Given the description of an element on the screen output the (x, y) to click on. 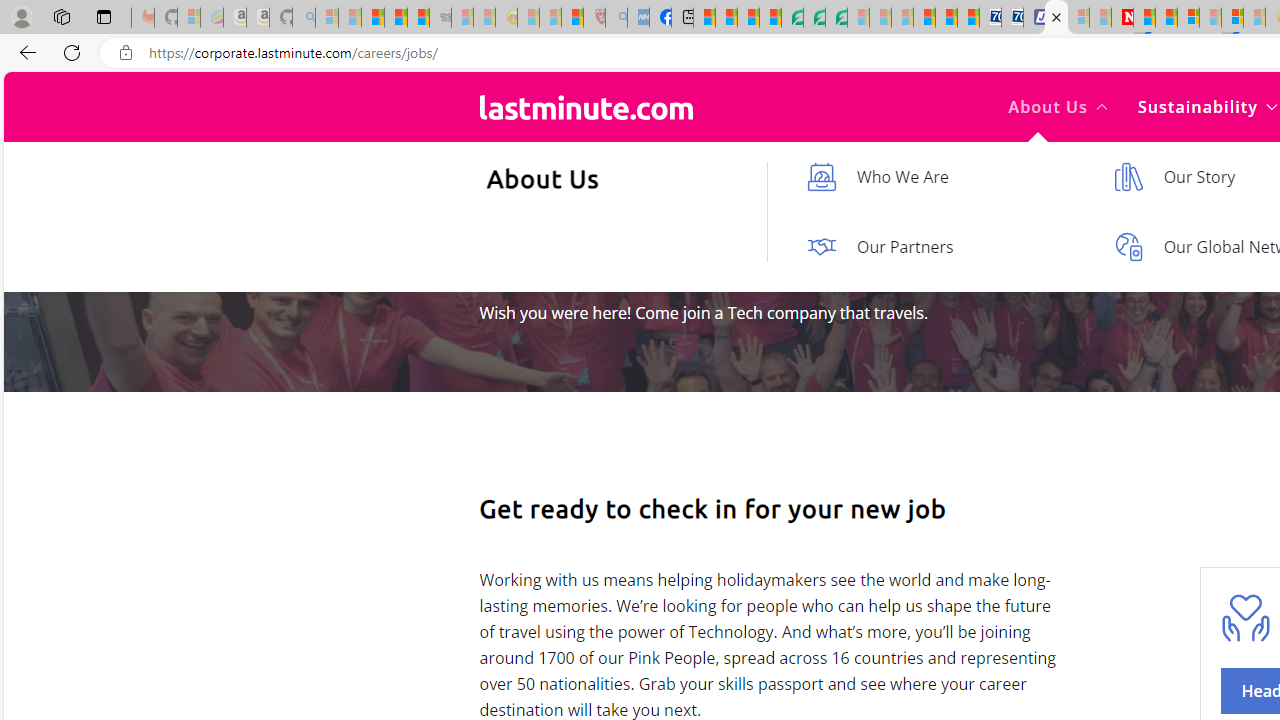
Class: uk-svg (585, 107)
The Weather Channel - MSN (372, 17)
CAREERS (515, 223)
LendingTree - Compare Lenders (792, 17)
